Given the description of an element on the screen output the (x, y) to click on. 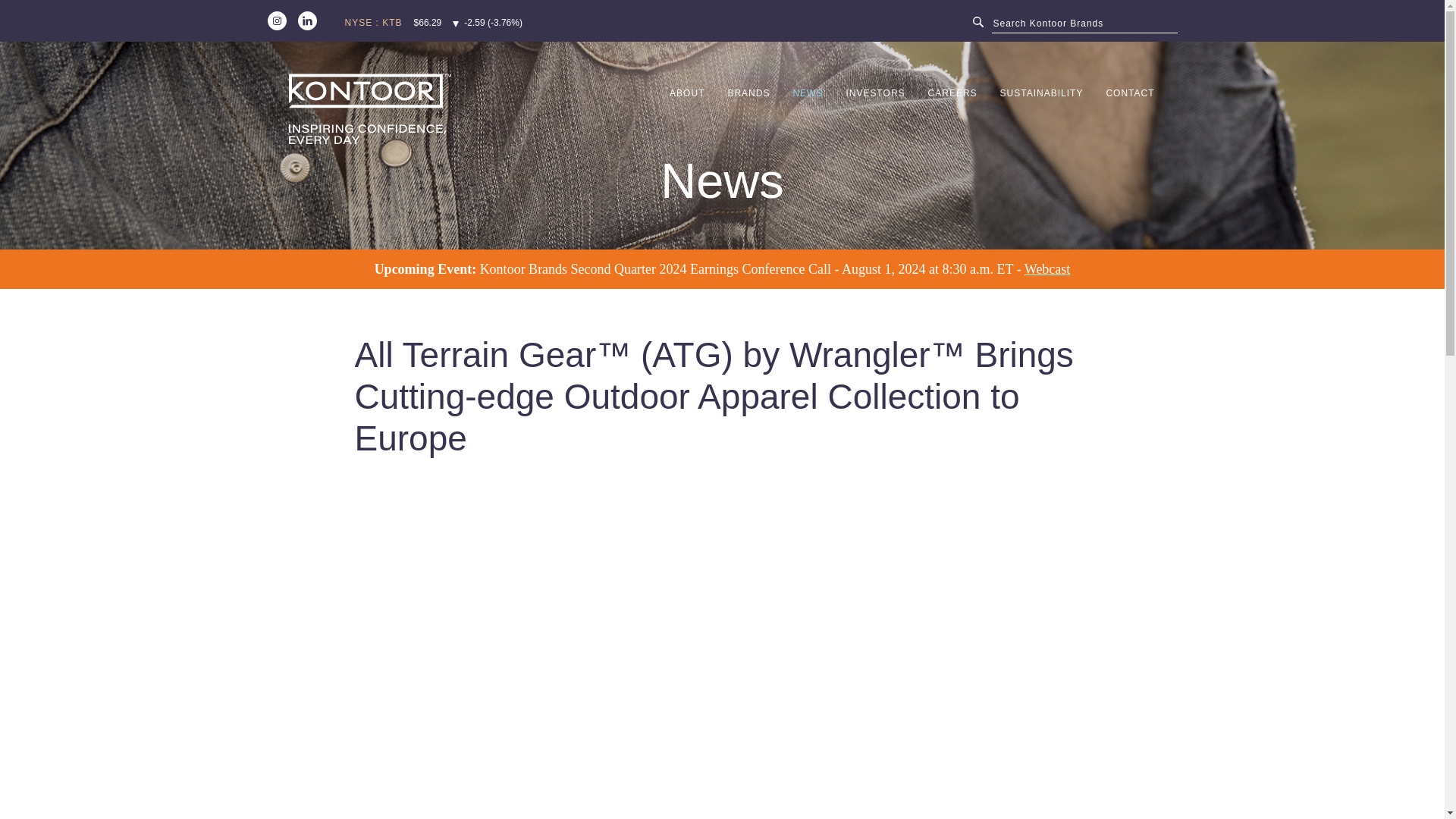
BRANDS (748, 114)
SUSTAINABILITY (1041, 114)
INVESTORS (874, 114)
CAREERS (952, 114)
NEWS (807, 114)
ABOUT (687, 114)
